Given the description of an element on the screen output the (x, y) to click on. 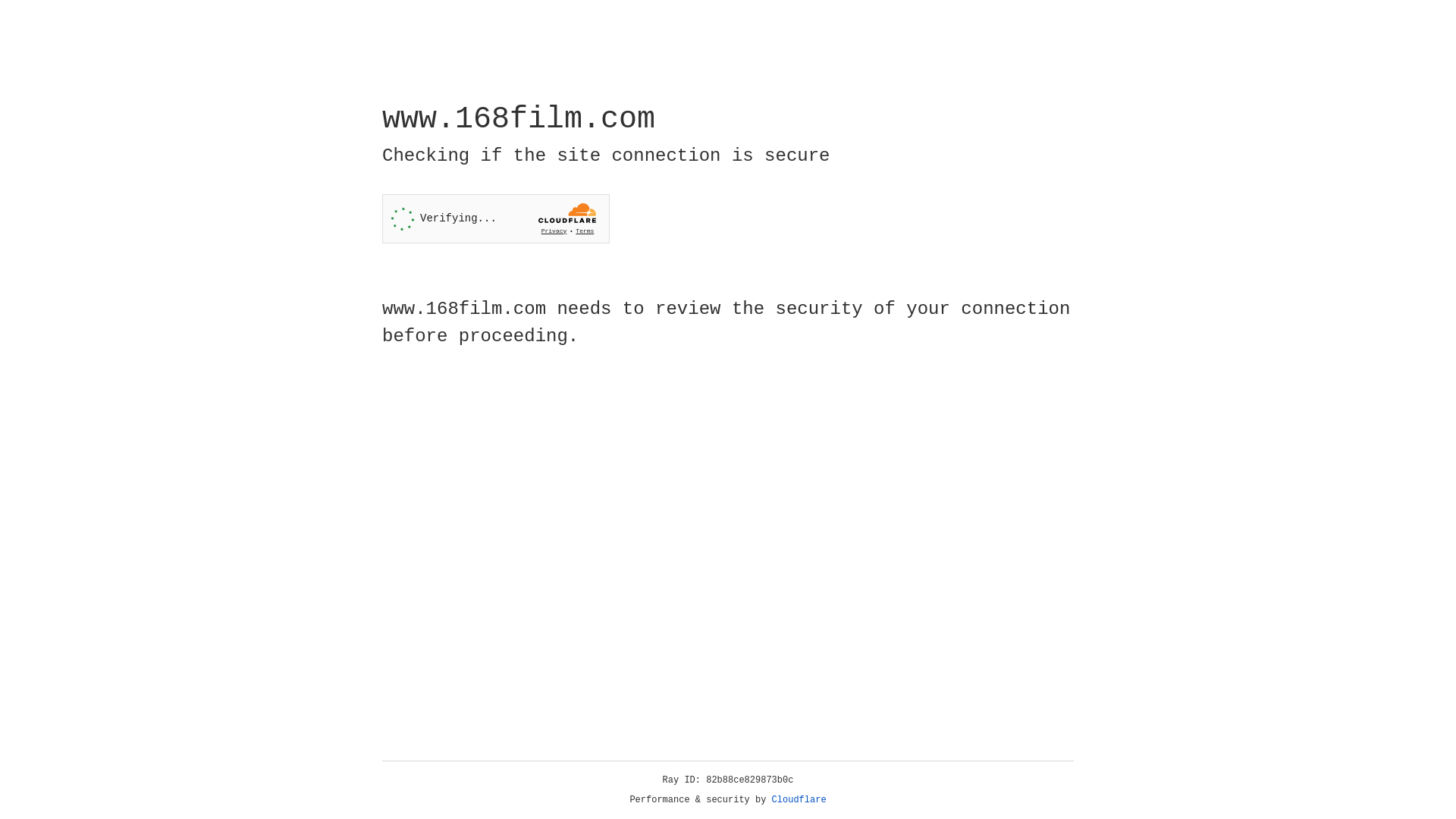
Widget containing a Cloudflare security challenge Element type: hover (495, 218)
Cloudflare Element type: text (798, 799)
